Given the description of an element on the screen output the (x, y) to click on. 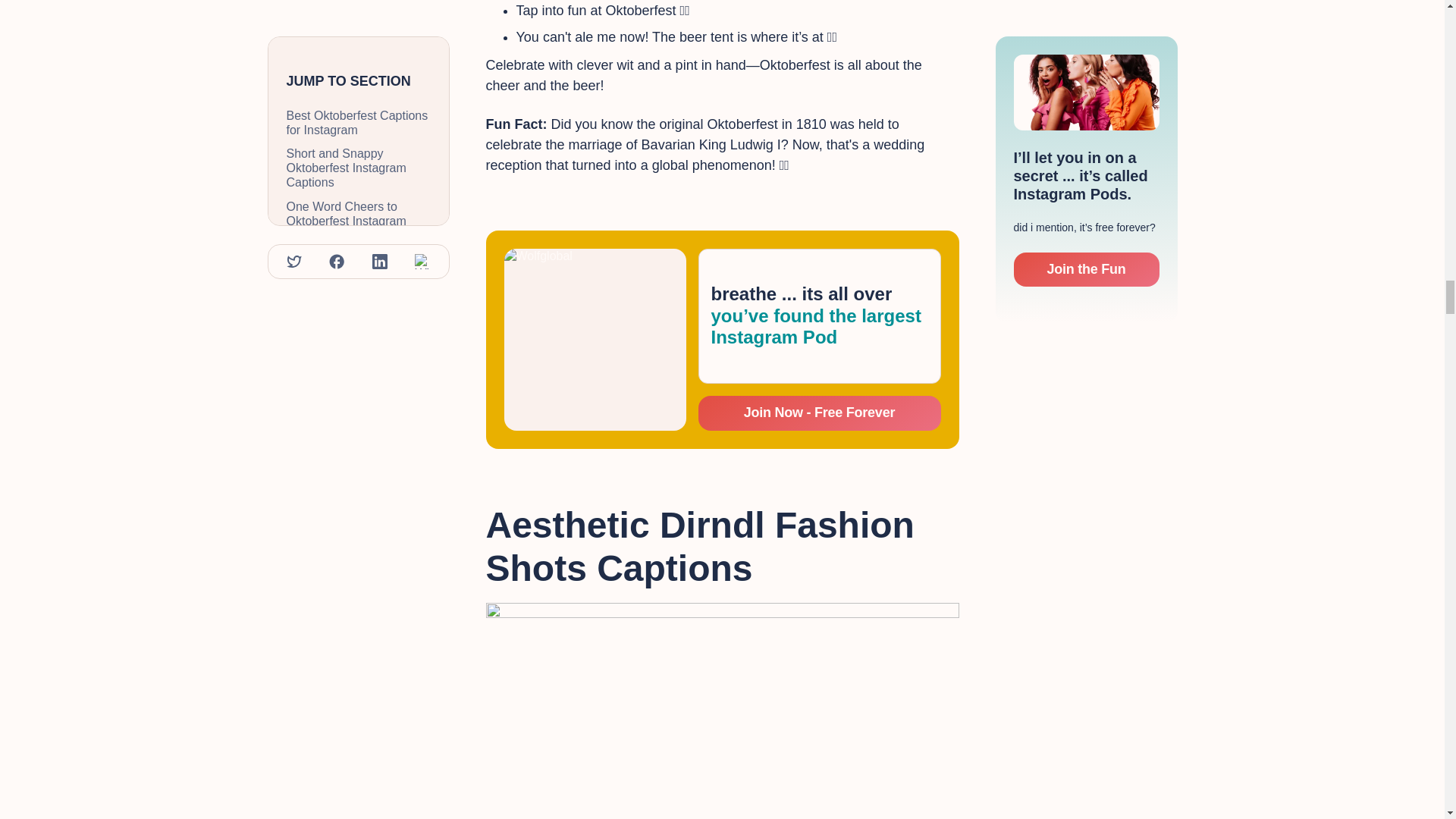
Join Now - Free Forever (818, 412)
